Given the description of an element on the screen output the (x, y) to click on. 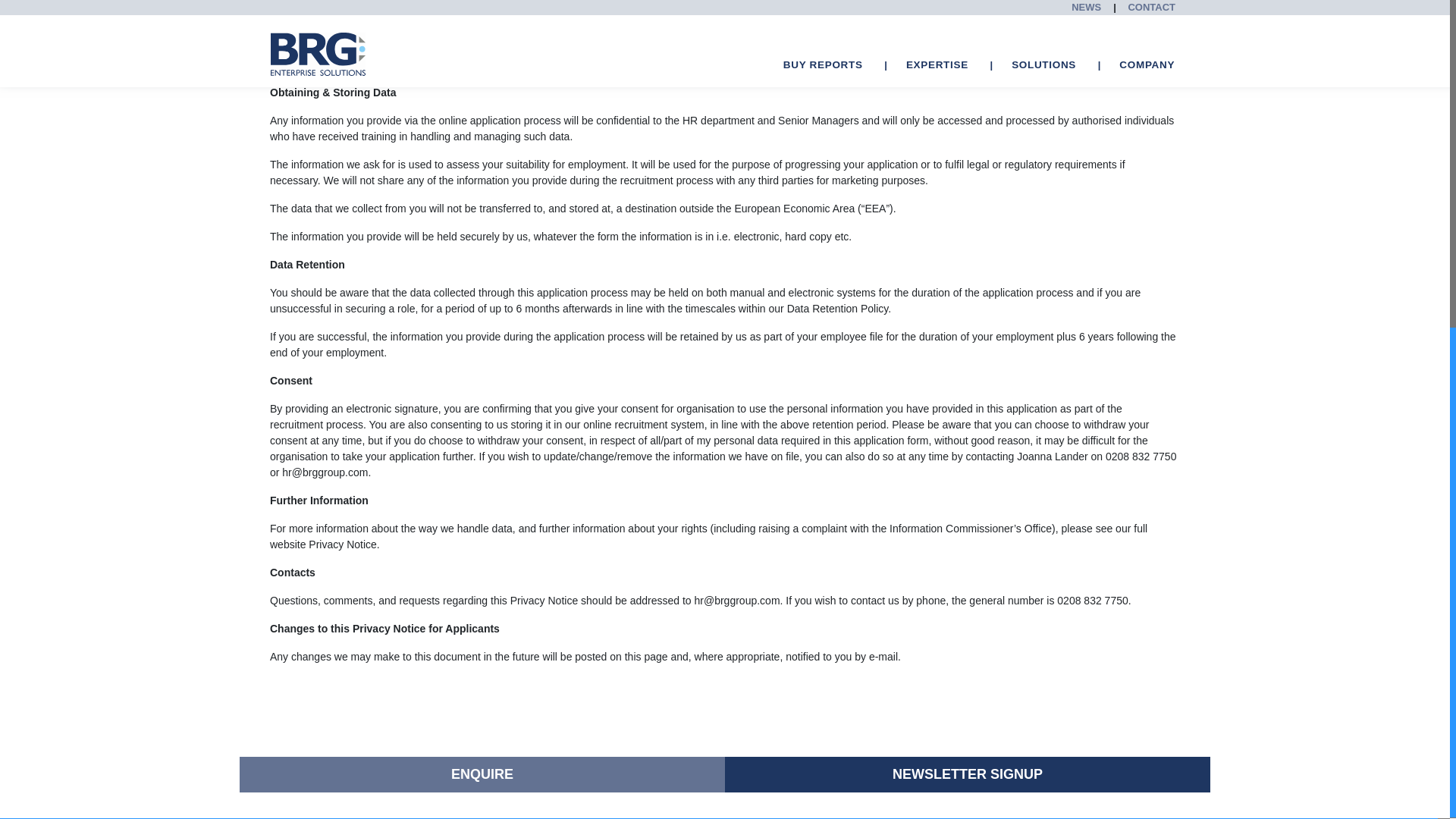
ENQUIRE (482, 773)
NEWSLETTER SIGNUP (967, 773)
Home (283, 2)
